Given the description of an element on the screen output the (x, y) to click on. 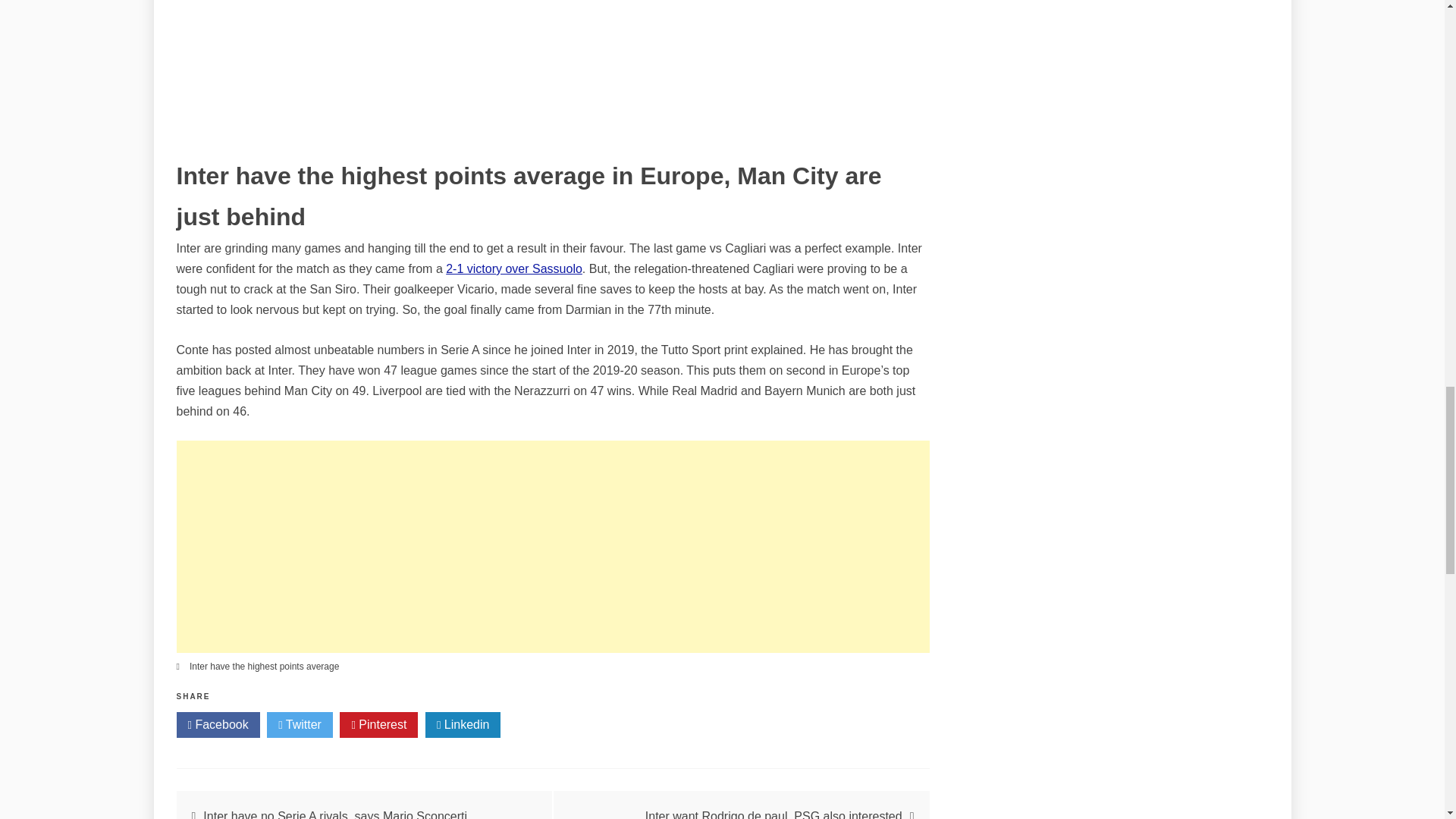
Inter have the highest points average (264, 665)
Twitter (299, 724)
Pinterest (378, 724)
2-1 victory over Sassuolo (513, 268)
Facebook (217, 724)
Linkedin (462, 724)
Inter have no Serie A rivals, says Mario Sconcerti (335, 814)
Inter want Rodrigo de paul, PSG also interested (773, 814)
